Given the description of an element on the screen output the (x, y) to click on. 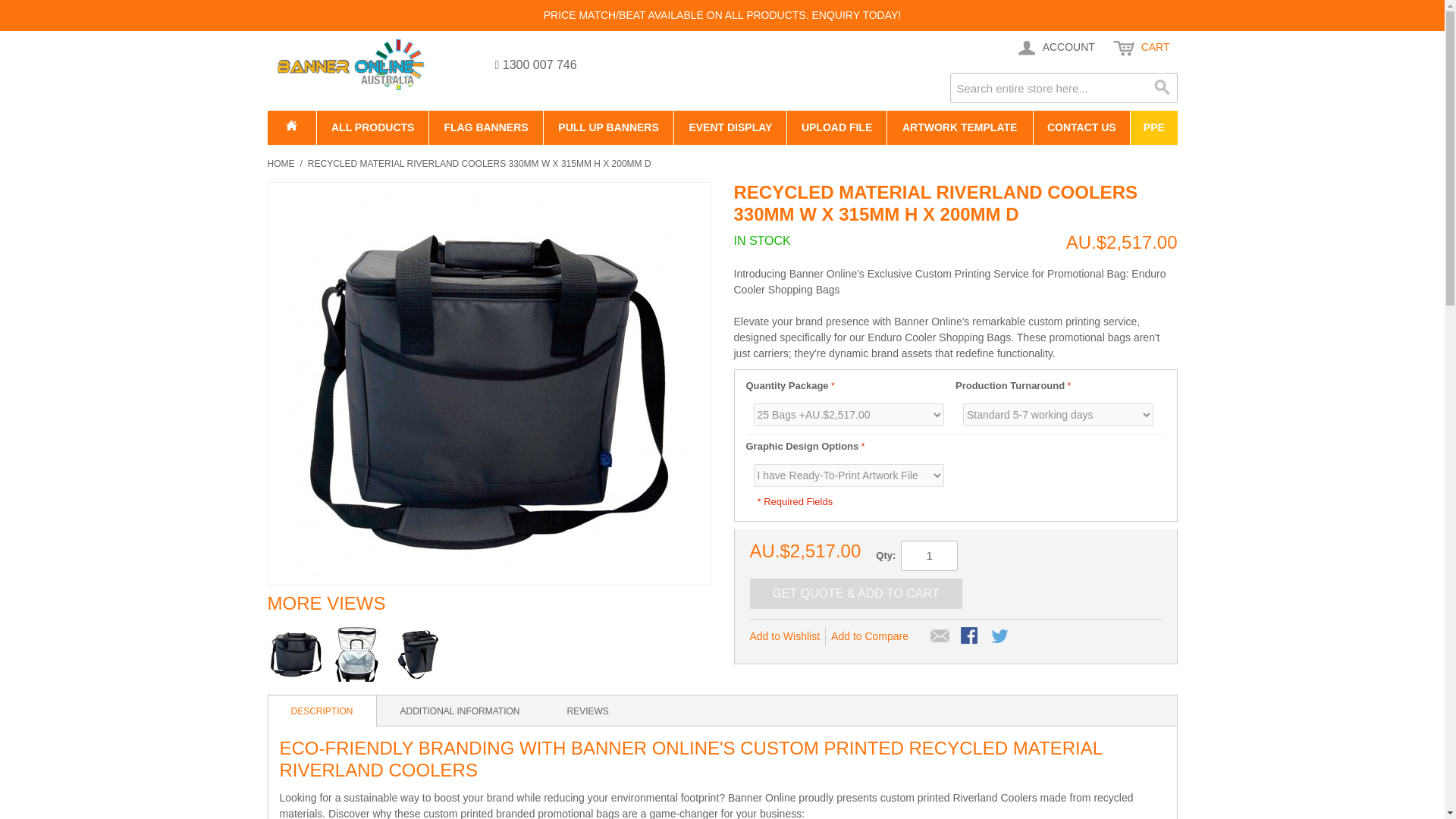
1 (929, 555)
Go to Home Page (280, 163)
ACCOUNT (1054, 47)
Search (1161, 87)
CART (1141, 47)
Email to a Friend (940, 637)
Qty (929, 555)
ALL PRODUCTS (372, 127)
Home (290, 127)
